Given the description of an element on the screen output the (x, y) to click on. 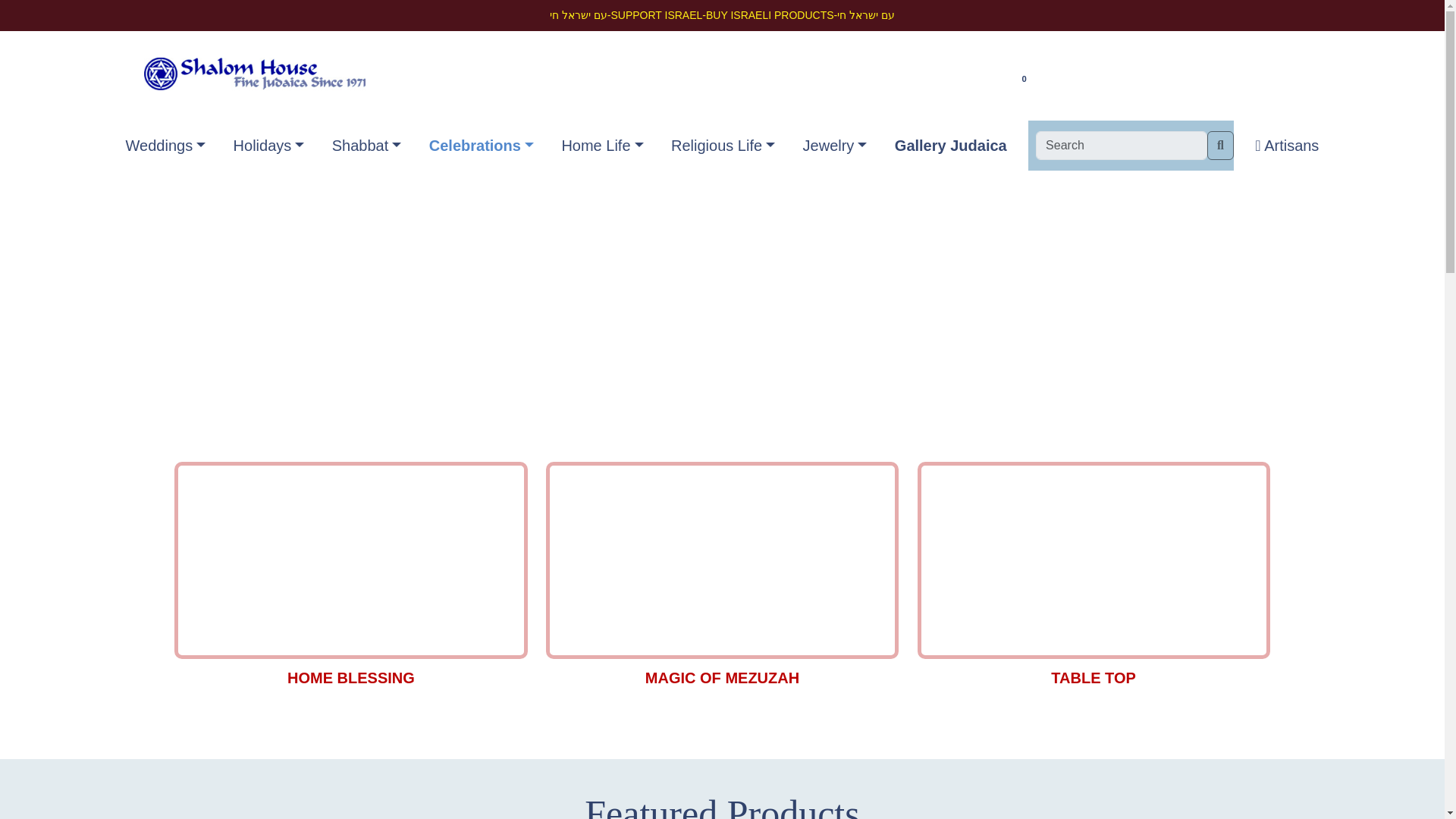
Gift Registry (1209, 77)
Gift Registry (1209, 77)
0 Cart (1042, 76)
Judaica Blog (1115, 77)
Judaica Blog (1115, 77)
Login (930, 76)
Register (983, 76)
Weddings (165, 145)
Gift Cards (1293, 77)
Celebrations (481, 145)
